Given the description of an element on the screen output the (x, y) to click on. 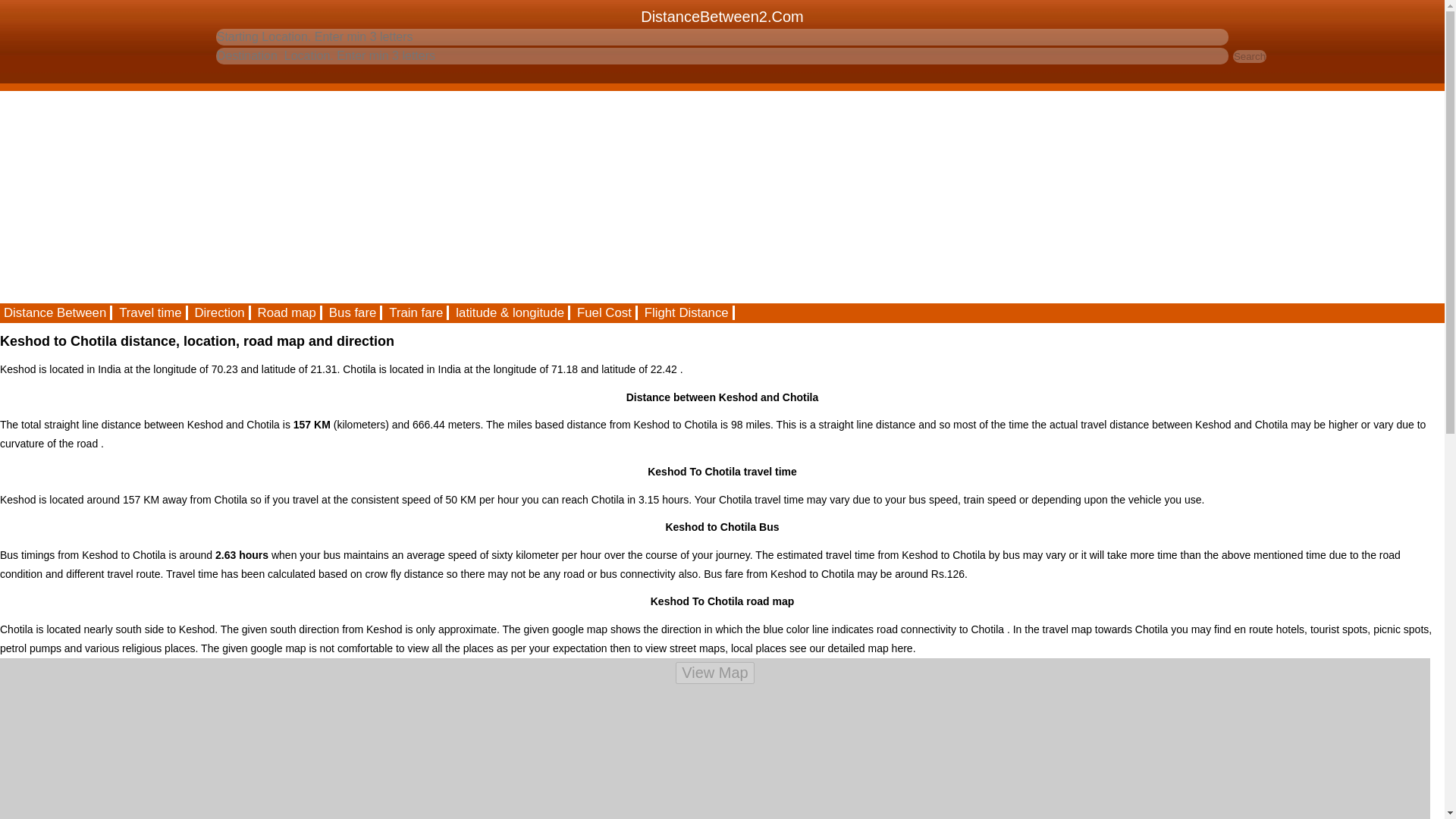
Flight Distance (687, 312)
Direction (220, 312)
Train fare (416, 312)
Bus fare (353, 312)
Fuel Cost (605, 312)
View Map (714, 672)
driving direction (220, 312)
Search (1249, 56)
Search (1249, 56)
Road map (287, 312)
Travel time (151, 312)
Distance Between (56, 312)
